Given the description of an element on the screen output the (x, y) to click on. 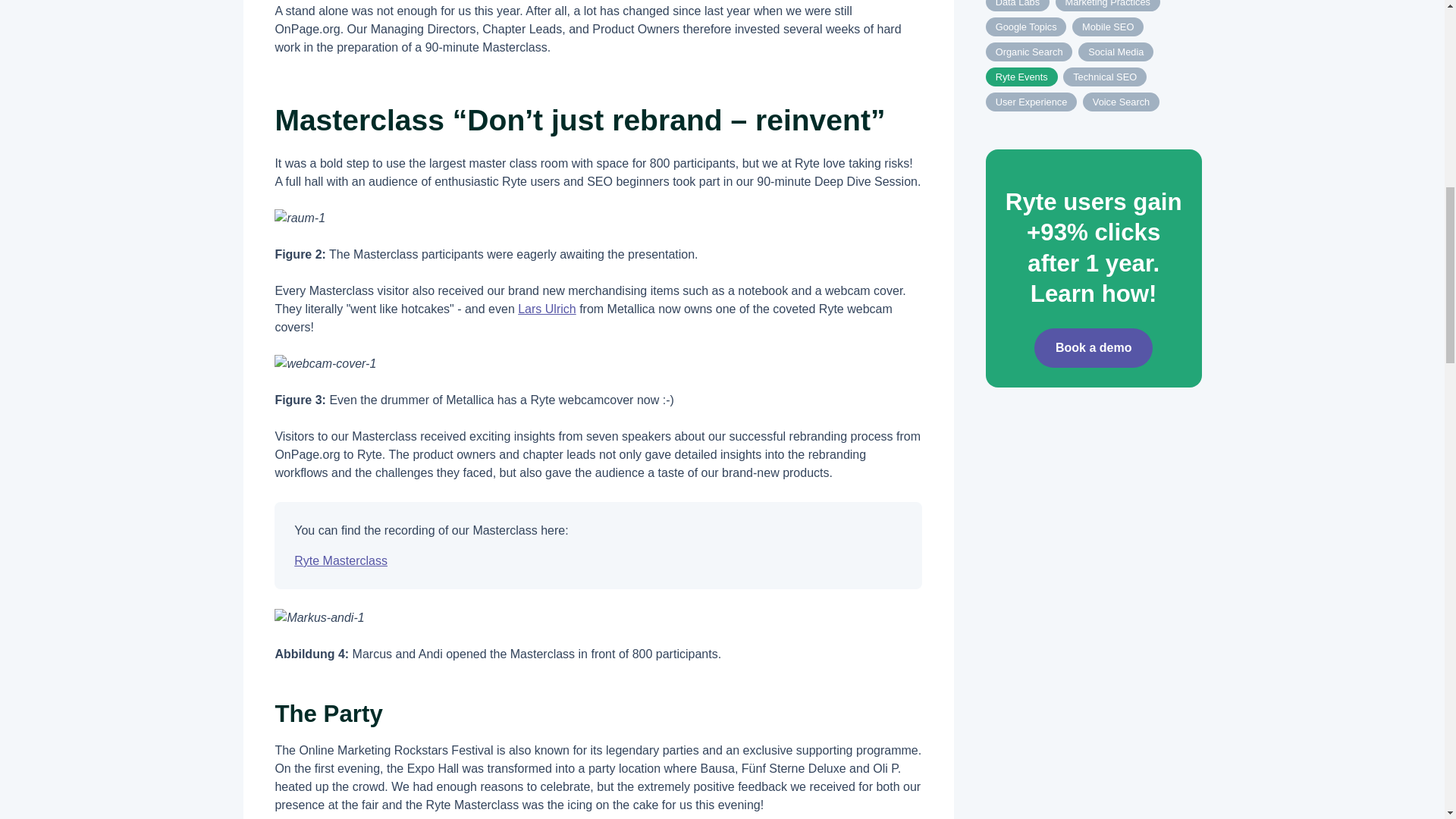
Google Topics (1025, 26)
Mobile SEO (1106, 26)
Social Media (1115, 51)
Organic Search (1029, 51)
Data Labs (1017, 5)
Lars Ulrich (546, 308)
Marketing Practices (1107, 5)
Ryte Masterclass (340, 560)
